Given the description of an element on the screen output the (x, y) to click on. 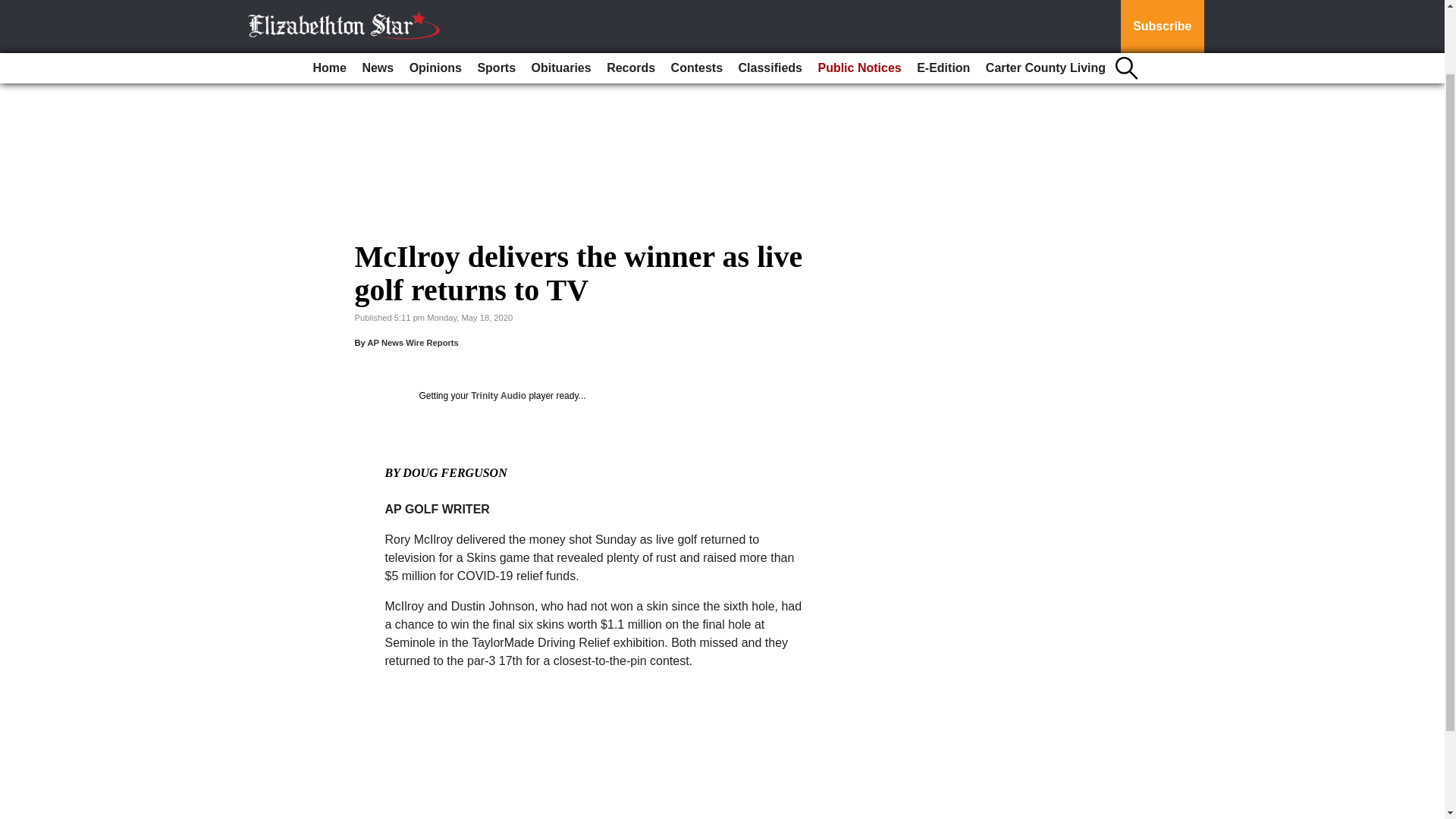
Obituaries (560, 2)
Records (630, 2)
Home (328, 2)
Public Notices (858, 2)
Contests (697, 2)
Trinity Audio (497, 395)
Carter County Living (1045, 2)
Opinions (435, 2)
Sports (495, 2)
News (376, 2)
Classifieds (770, 2)
AP News Wire Reports (412, 342)
E-Edition (943, 2)
